Given the description of an element on the screen output the (x, y) to click on. 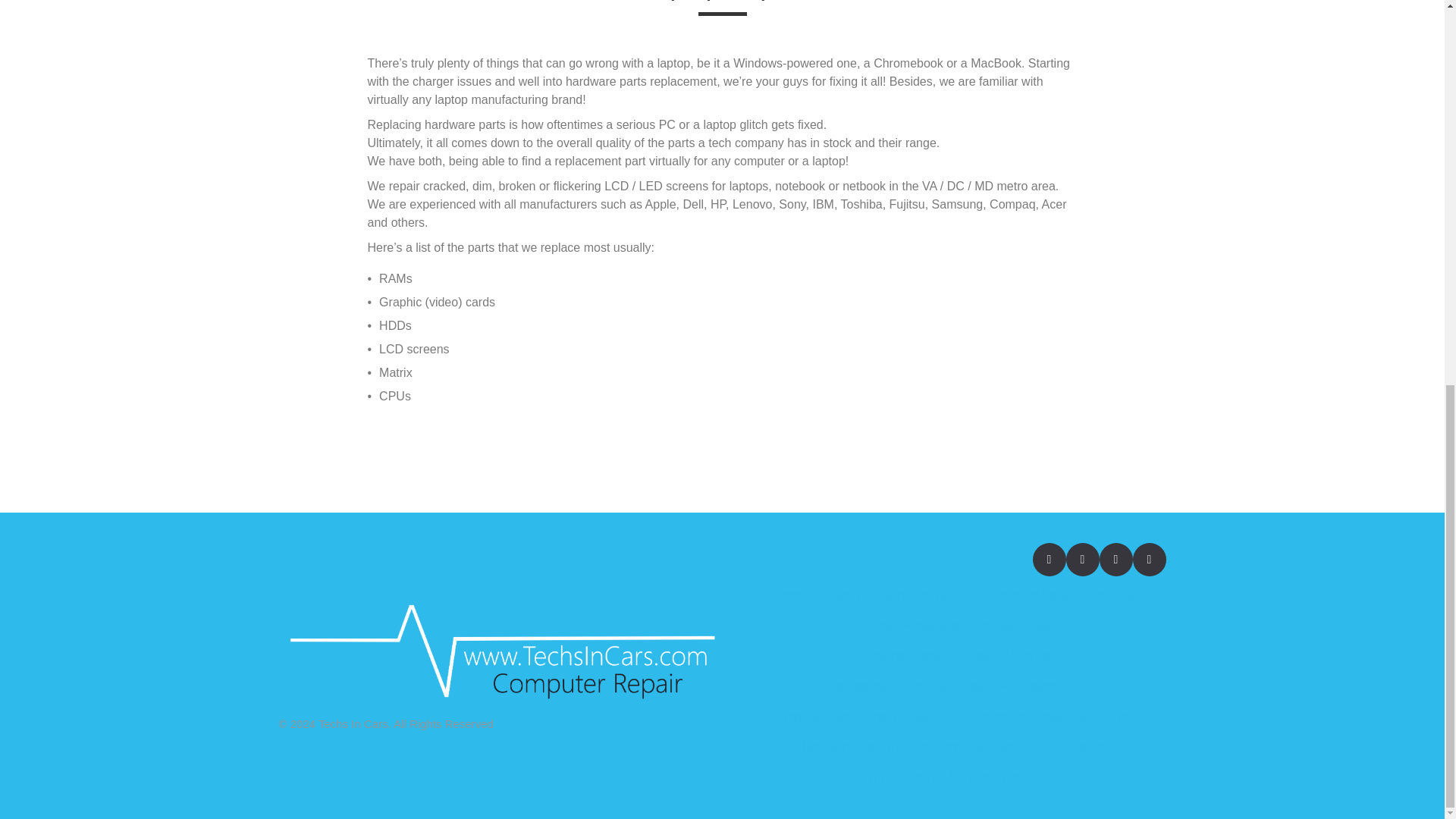
Yelp (1082, 559)
Facebook (1048, 559)
Old Town Alexandria Computer Repair (953, 625)
Google (1149, 559)
Computer Repair Alexandria (1060, 595)
Computer Repair Mclean Virginia (858, 595)
Twitter (1115, 559)
